Given the description of an element on the screen output the (x, y) to click on. 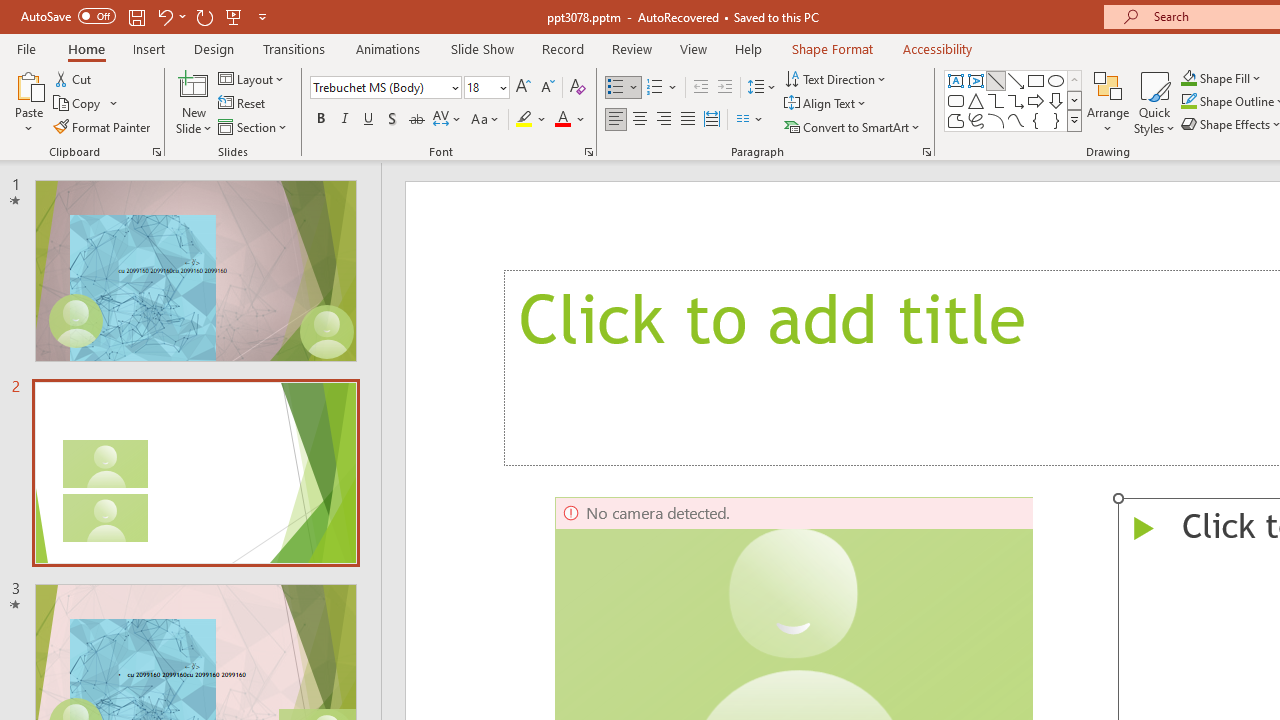
Layout (252, 78)
Shape Format (832, 48)
Character Spacing (447, 119)
Shape Fill Dark Green, Accent 2 (1188, 78)
Vertical Text Box (975, 80)
Connector: Elbow (995, 100)
Shadow (392, 119)
